Given the description of an element on the screen output the (x, y) to click on. 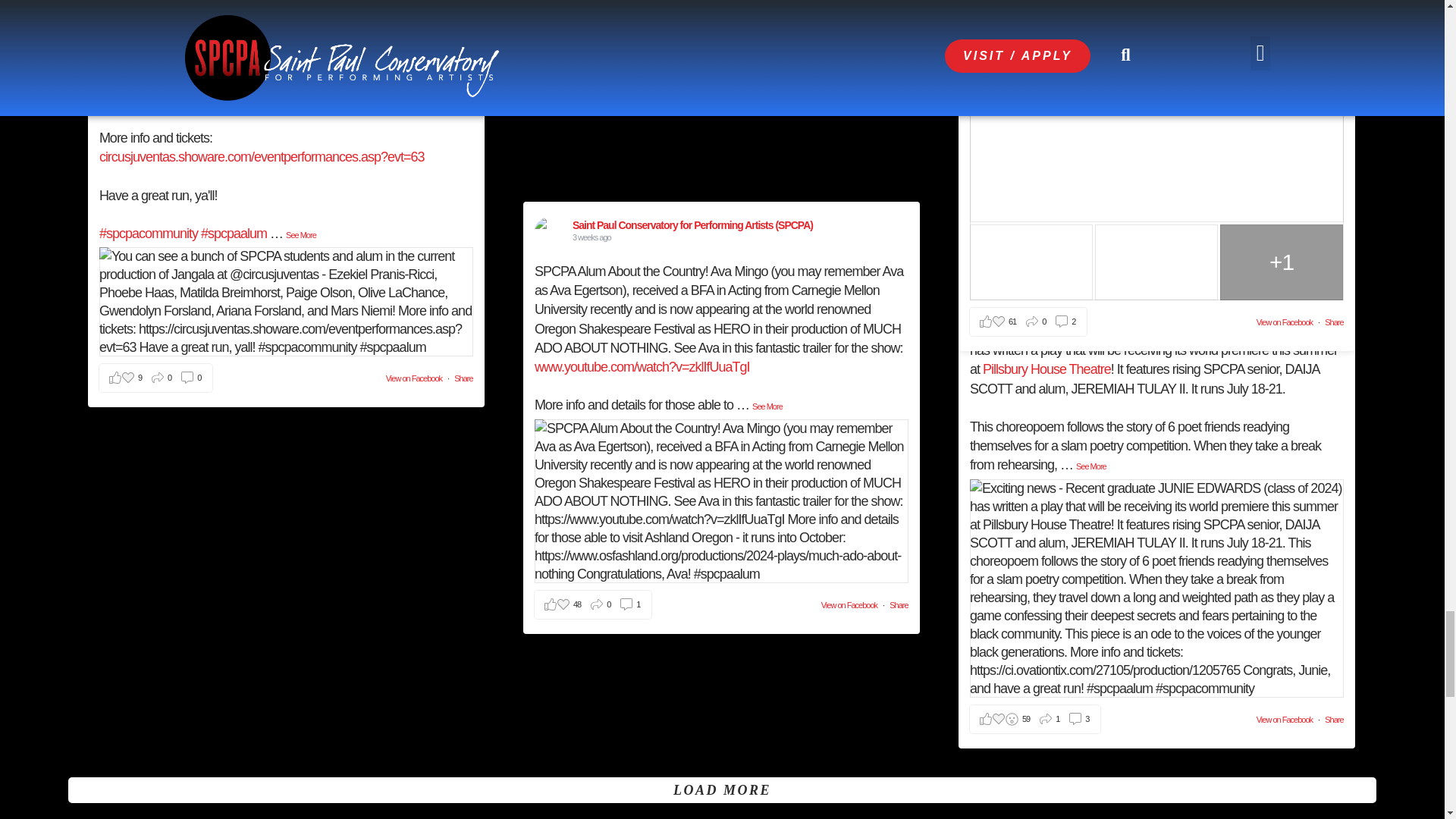
View on Facebook (414, 378)
View on Facebook (1285, 321)
Share (462, 378)
View on Facebook (850, 604)
Share (1333, 321)
View on Facebook (1285, 718)
Share (898, 604)
